Given the description of an element on the screen output the (x, y) to click on. 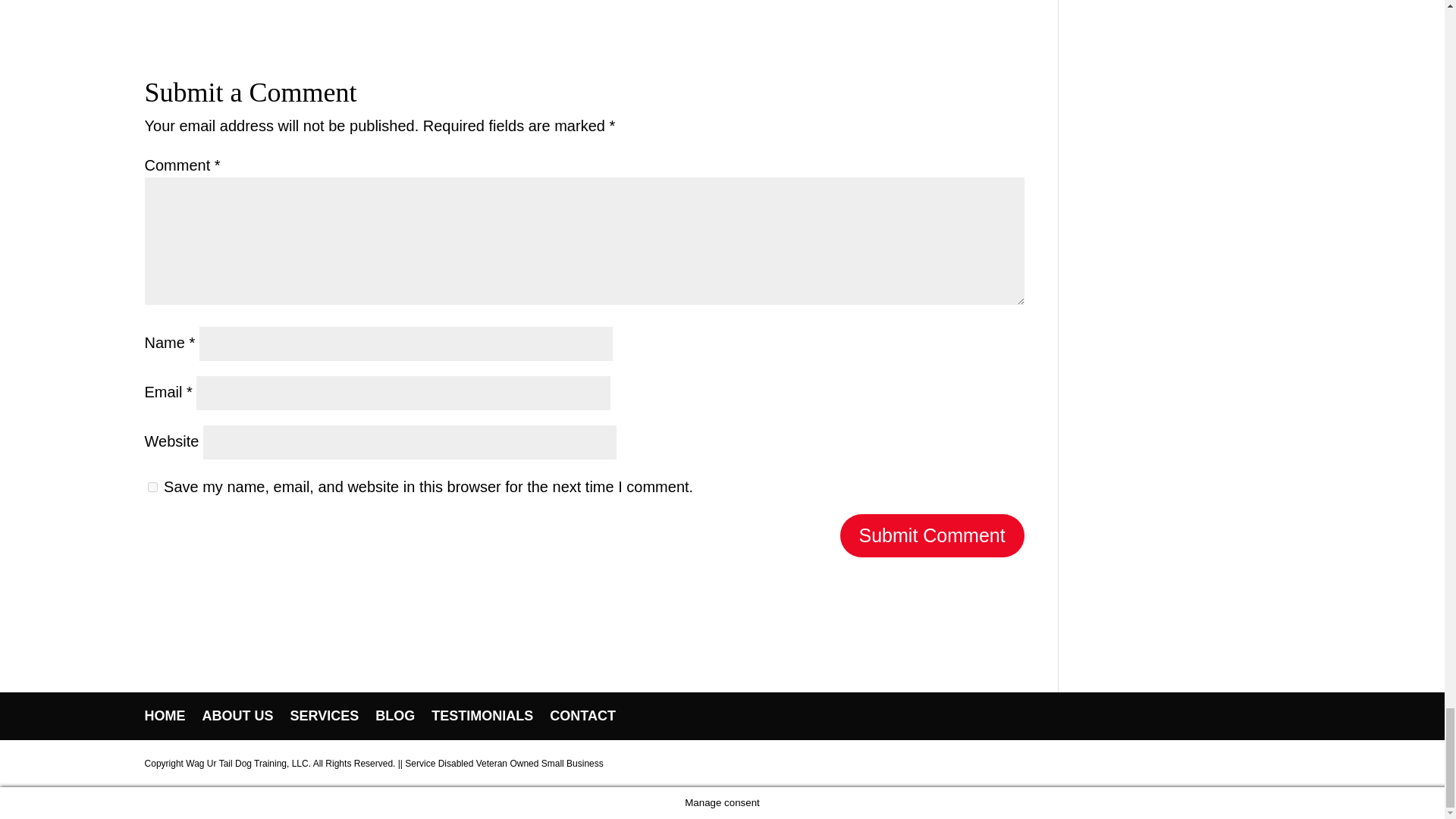
yes (152, 487)
Submit Comment (932, 535)
Submit Comment (932, 535)
